Given the description of an element on the screen output the (x, y) to click on. 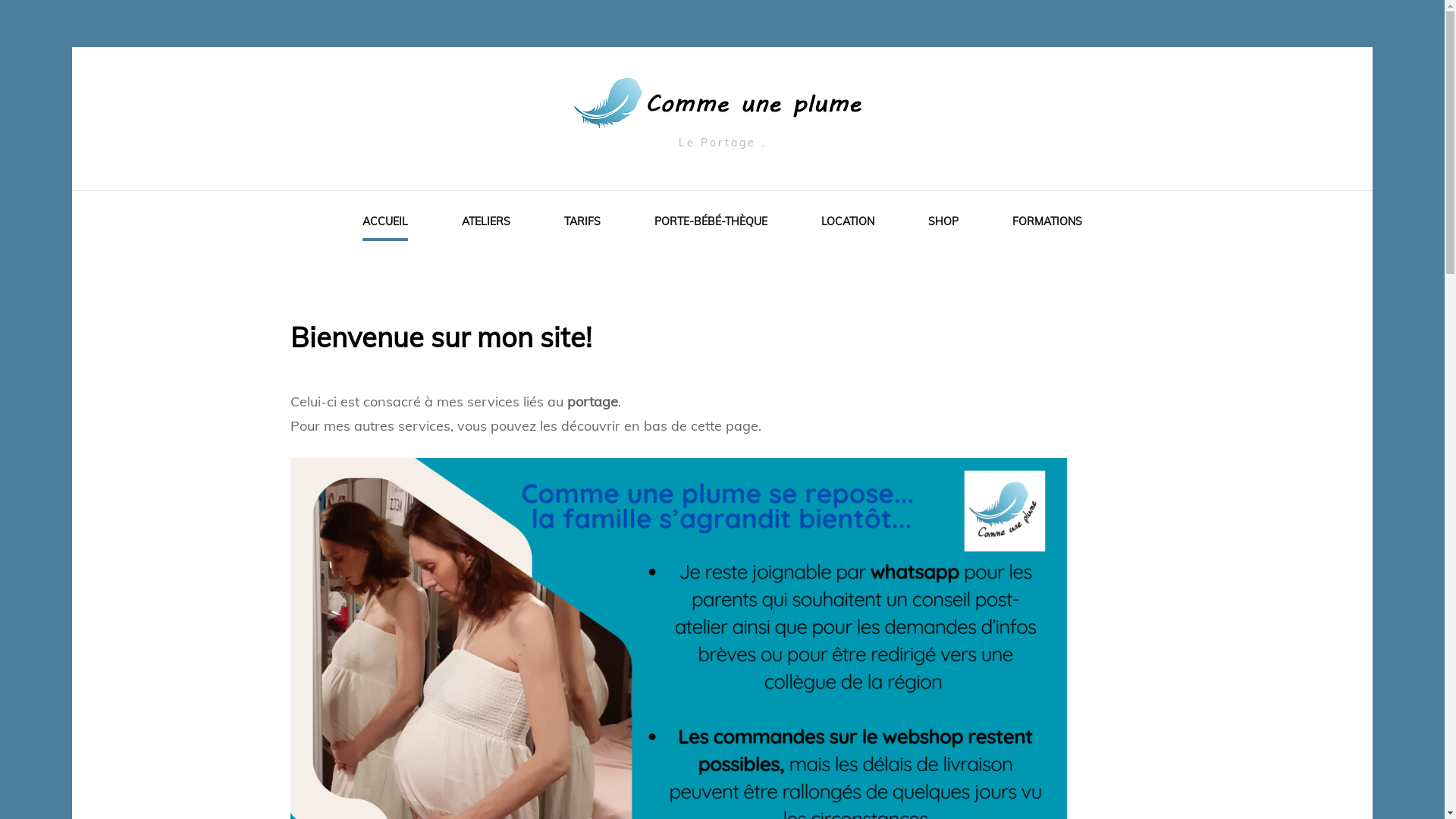
FORMATIONS Element type: text (1047, 224)
ACCUEIL Element type: text (384, 224)
ATELIERS Element type: text (485, 224)
LOCATION Element type: text (847, 224)
SHOP Element type: text (943, 224)
TARIFS Element type: text (582, 224)
